Given the description of an element on the screen output the (x, y) to click on. 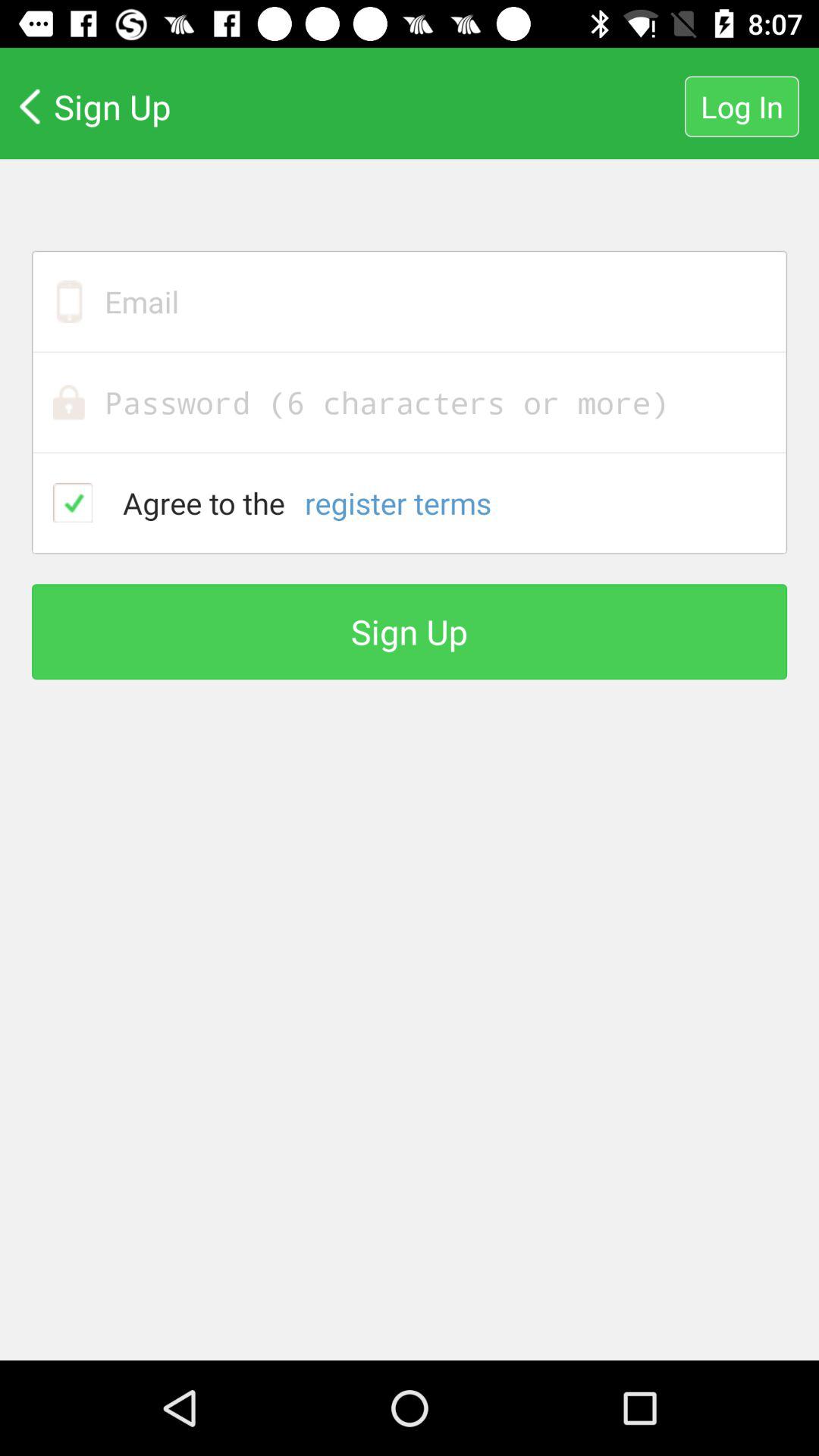
jump to log in (741, 106)
